Given the description of an element on the screen output the (x, y) to click on. 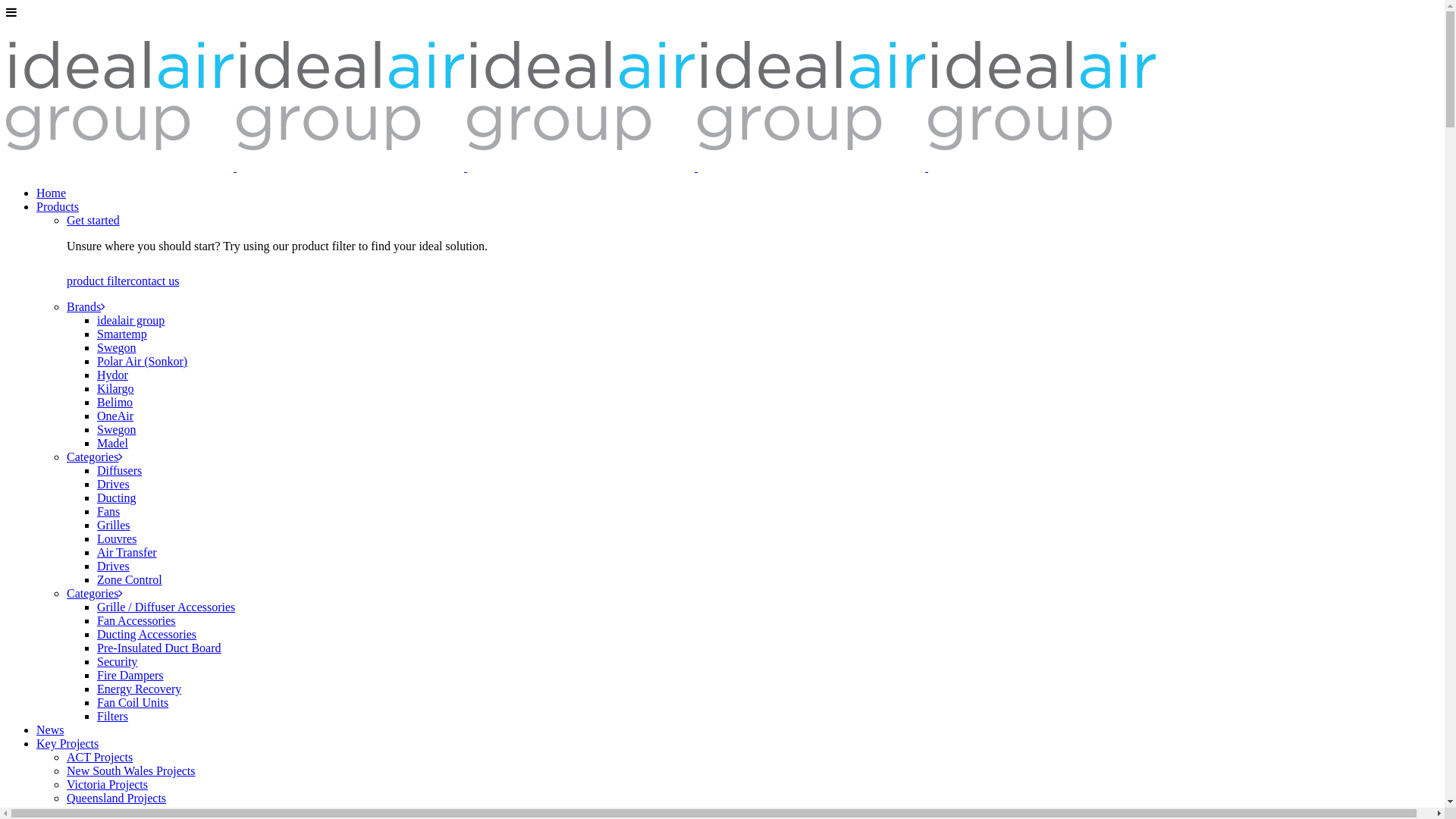
New South Wales Projects Element type: text (130, 770)
Louvres Element type: text (116, 538)
Swegon Element type: text (116, 429)
Zone Control Element type: text (129, 579)
Madel Element type: text (112, 442)
Grilles Element type: text (113, 524)
Victoria Projects Element type: text (106, 784)
Drives Element type: text (113, 483)
Categories Element type: text (94, 456)
idealair group Element type: text (130, 319)
Categories Element type: text (94, 592)
Kilargo Element type: text (115, 388)
OneAir Element type: text (115, 415)
Belimo Element type: text (114, 401)
Smartemp Element type: text (122, 333)
Queensland Projects Element type: text (116, 797)
Ducting Accessories Element type: text (146, 633)
Fan Accessories Element type: text (136, 620)
product filter Element type: text (98, 280)
Key Projects Element type: text (67, 743)
Brands Element type: text (85, 306)
Pre-Insulated Duct Board Element type: text (159, 647)
Products Element type: text (57, 206)
contact us Element type: text (154, 280)
Filters Element type: text (112, 715)
Tasmania Projects Element type: text (110, 811)
News Element type: text (49, 729)
Energy Recovery Element type: text (139, 688)
Fire Dampers Element type: text (130, 674)
ACT Projects Element type: text (99, 756)
Ducting Element type: text (116, 497)
Home Element type: text (50, 192)
Security Element type: text (117, 661)
Hydor Element type: text (112, 374)
Fans Element type: text (108, 511)
Diffusers Element type: text (119, 470)
Get started Element type: text (92, 219)
Swegon Element type: text (116, 347)
Air Transfer Element type: text (126, 552)
Drives Element type: text (113, 565)
Grille / Diffuser Accessories Element type: text (166, 606)
Fan Coil Units Element type: text (132, 702)
Polar Air (Sonkor) Element type: text (142, 360)
